Given the description of an element on the screen output the (x, y) to click on. 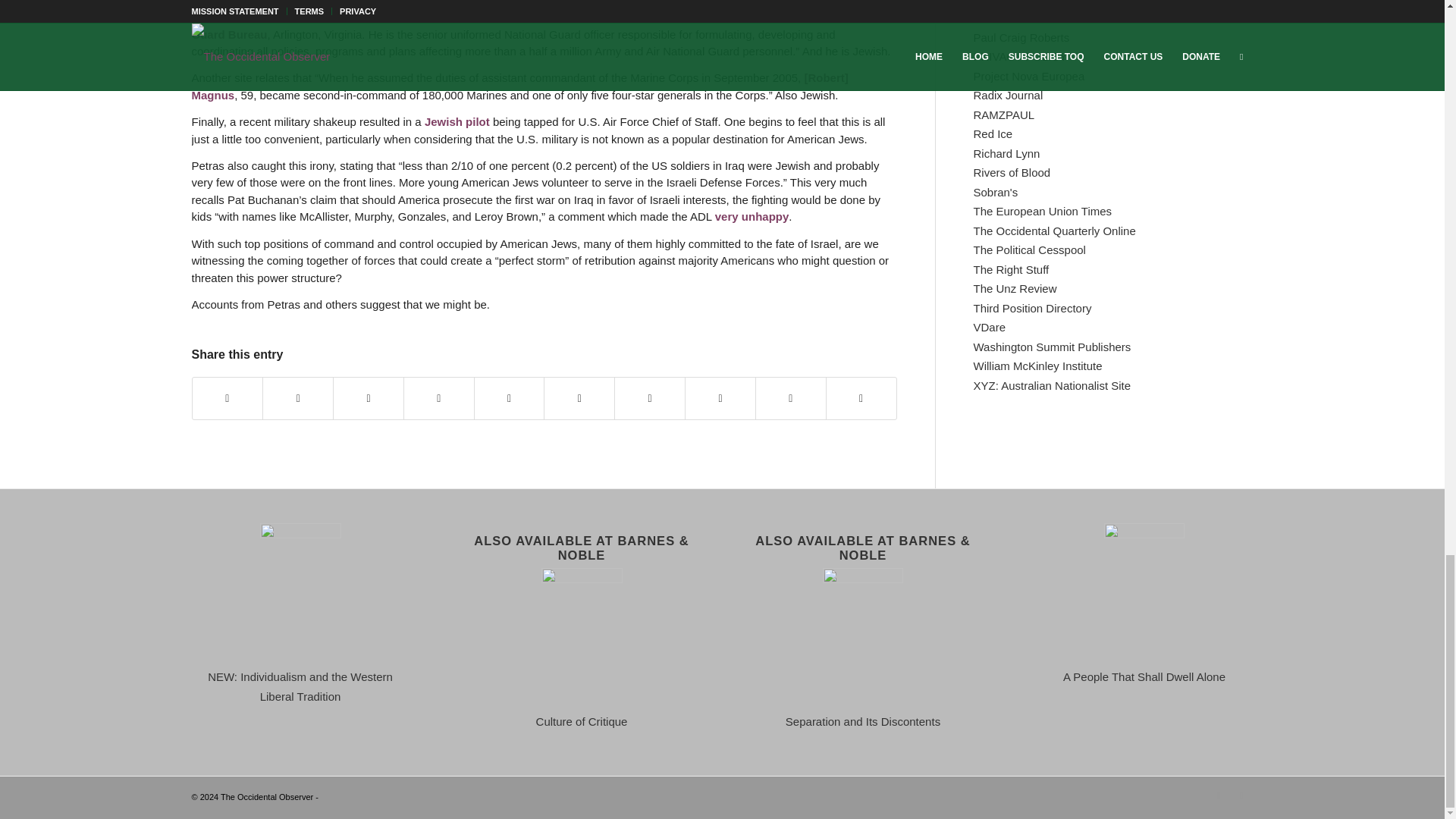
Jewish pilot (457, 121)
Chief, National Guard Bureau (537, 25)
very unhappy (751, 215)
